Given the description of an element on the screen output the (x, y) to click on. 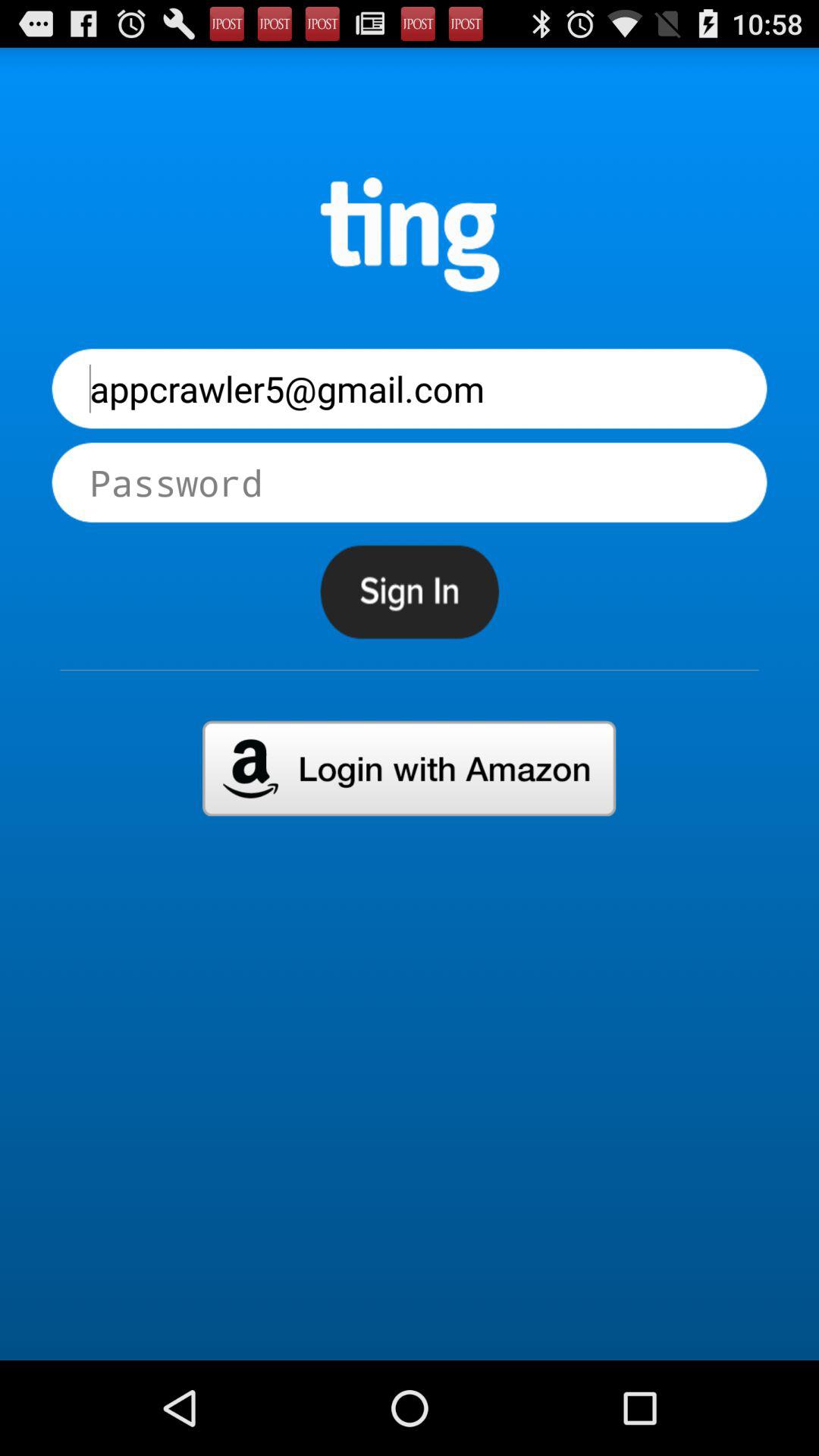
login to my account (408, 768)
